Given the description of an element on the screen output the (x, y) to click on. 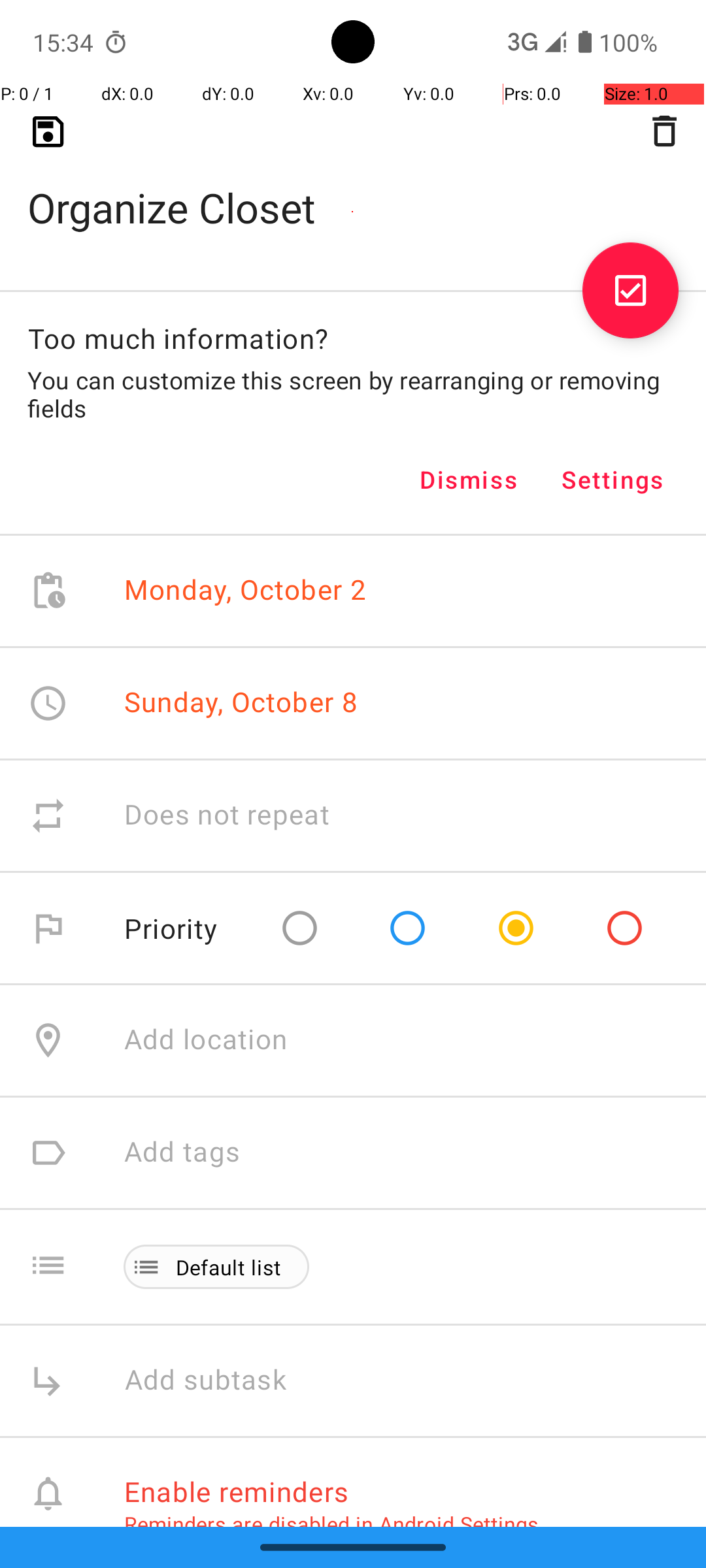
Organize Closet Element type: android.widget.EditText (353, 186)
Sunday, October 8 Element type: android.widget.TextView (240, 700)
Monday, October 2 Element type: android.widget.TextView (245, 590)
